Given the description of an element on the screen output the (x, y) to click on. 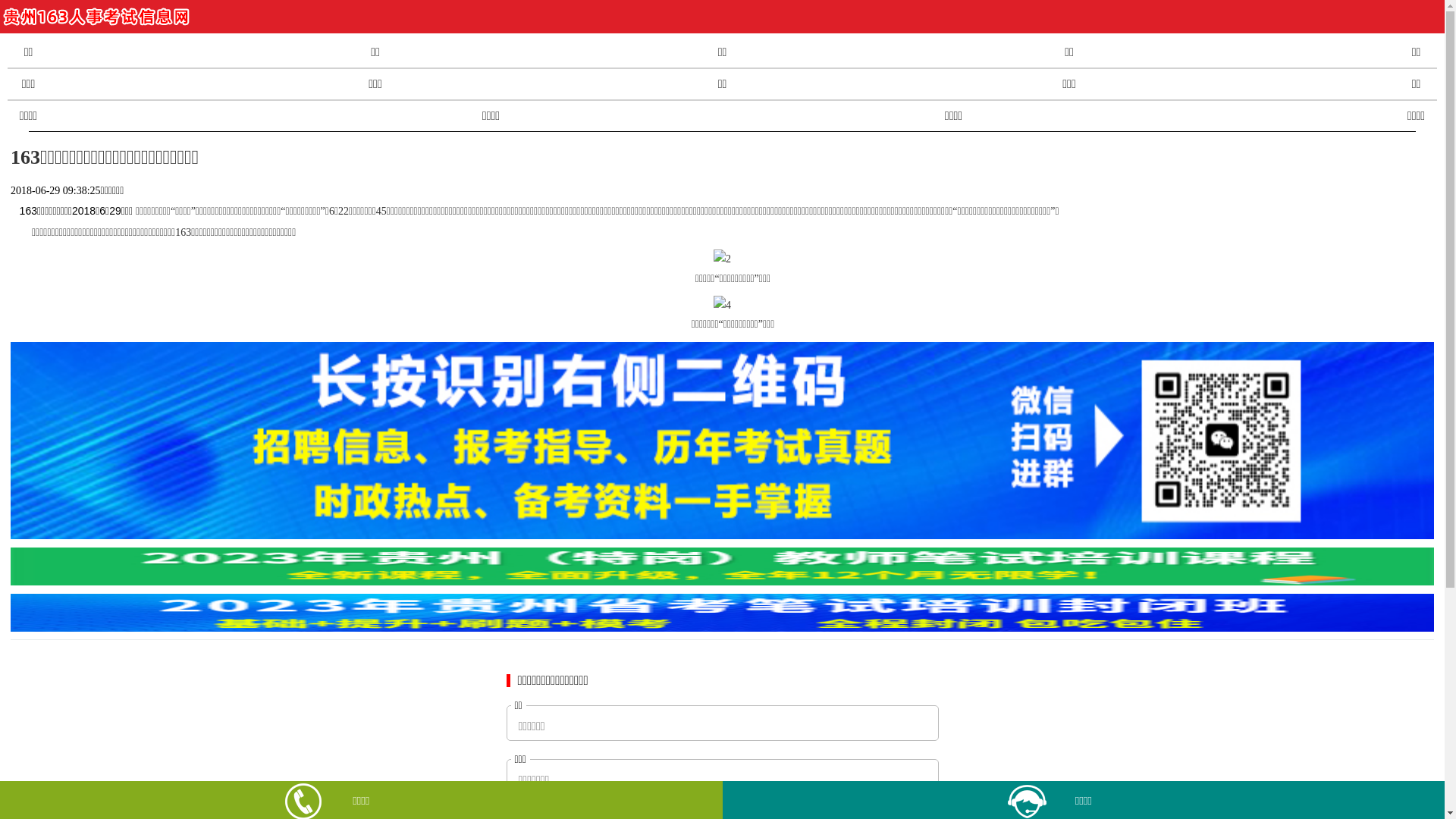
2 Element type: hover (722, 254)
4 Element type: hover (722, 301)
